Given the description of an element on the screen output the (x, y) to click on. 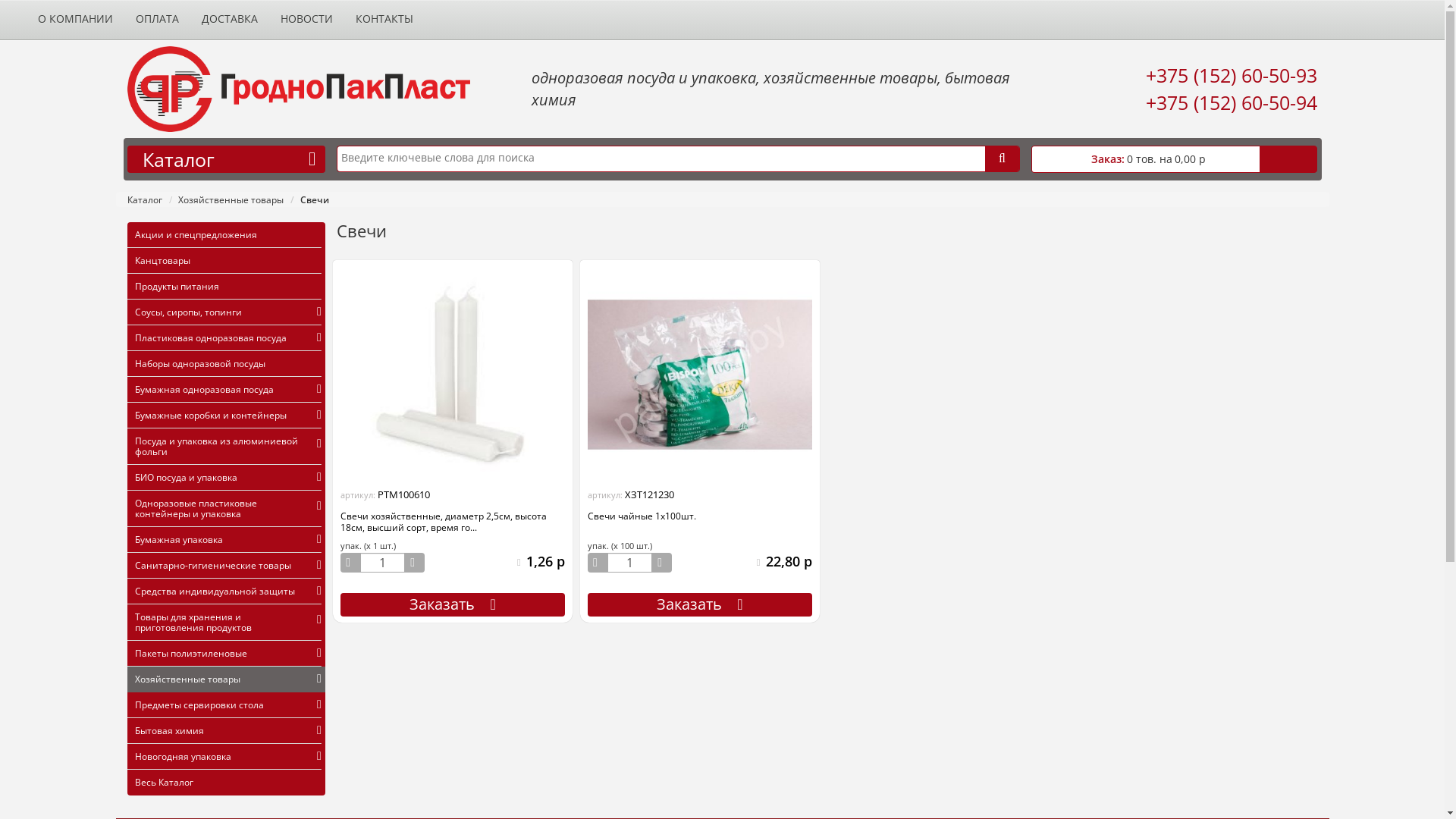
+ Element type: text (414, 562)
11 / 0 Element type: text (1360, 7)
- Element type: text (350, 562)
+375 (152) 60-50-94 Element type: text (1231, 102)
- Element type: text (597, 562)
+375 (152) 60-50-93 Element type: text (1231, 74)
+ Element type: text (661, 562)
